Given the description of an element on the screen output the (x, y) to click on. 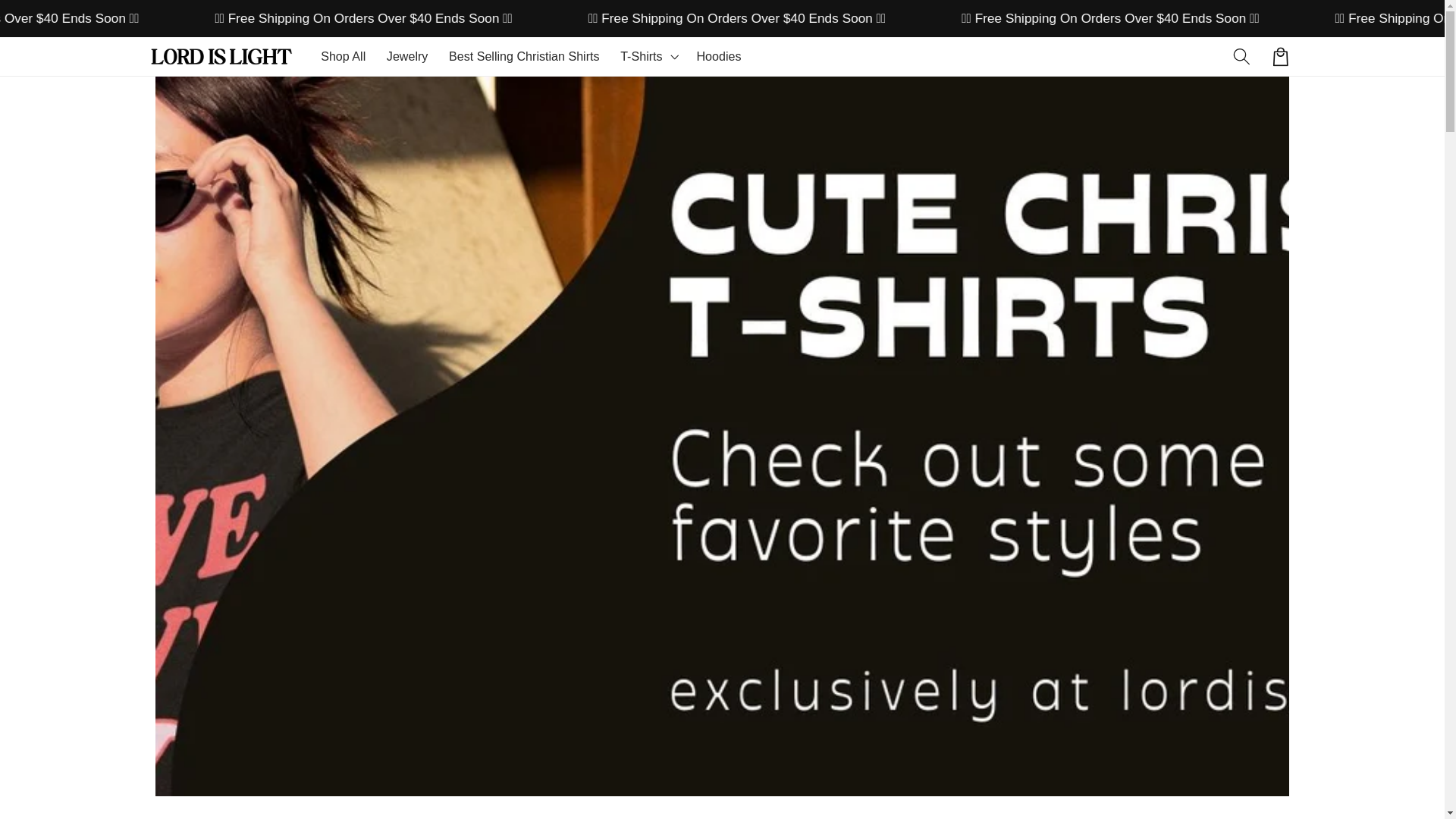
Hoodies (718, 56)
Cart (1280, 56)
Skip to content (53, 20)
Jewelry (406, 56)
Shop All (342, 56)
Best Selling Christian Shirts (524, 56)
